Given the description of an element on the screen output the (x, y) to click on. 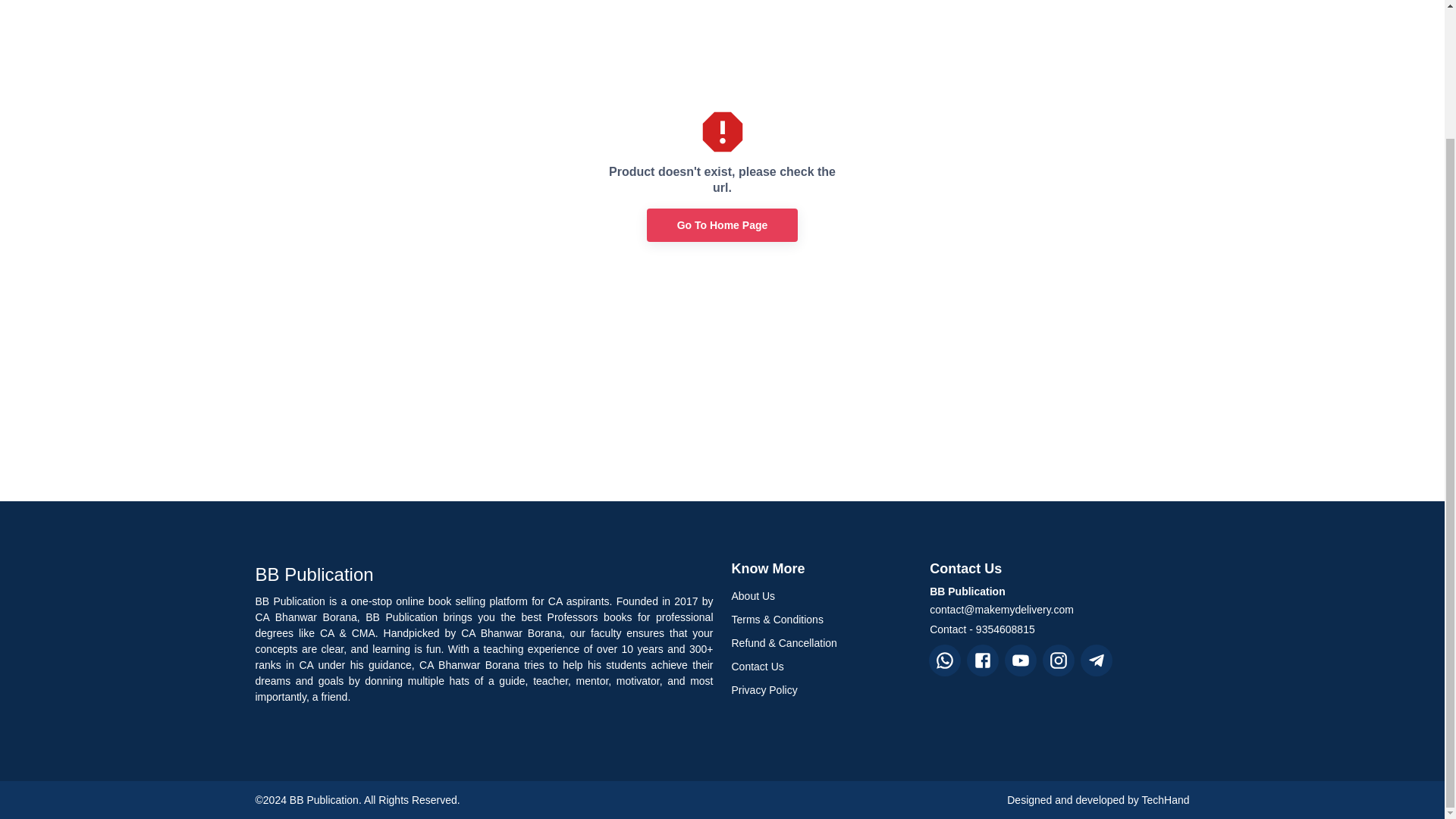
Go To Home Page (721, 225)
BB Publication (483, 574)
Contact Us (820, 666)
About Us (820, 596)
Privacy Policy (820, 689)
Designed and developed by TechHand (1098, 799)
